Given the description of an element on the screen output the (x, y) to click on. 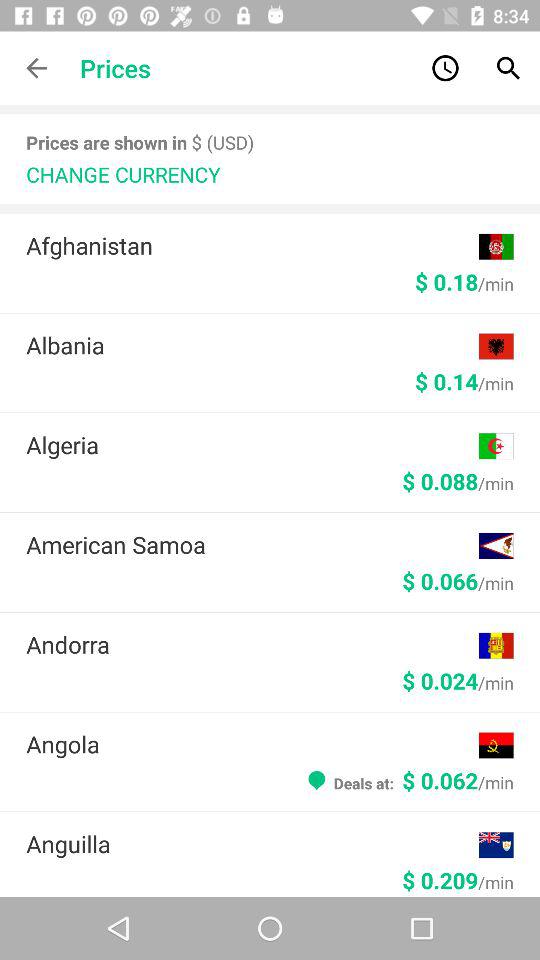
open item above the $ 0.066/min (252, 544)
